Given the description of an element on the screen output the (x, y) to click on. 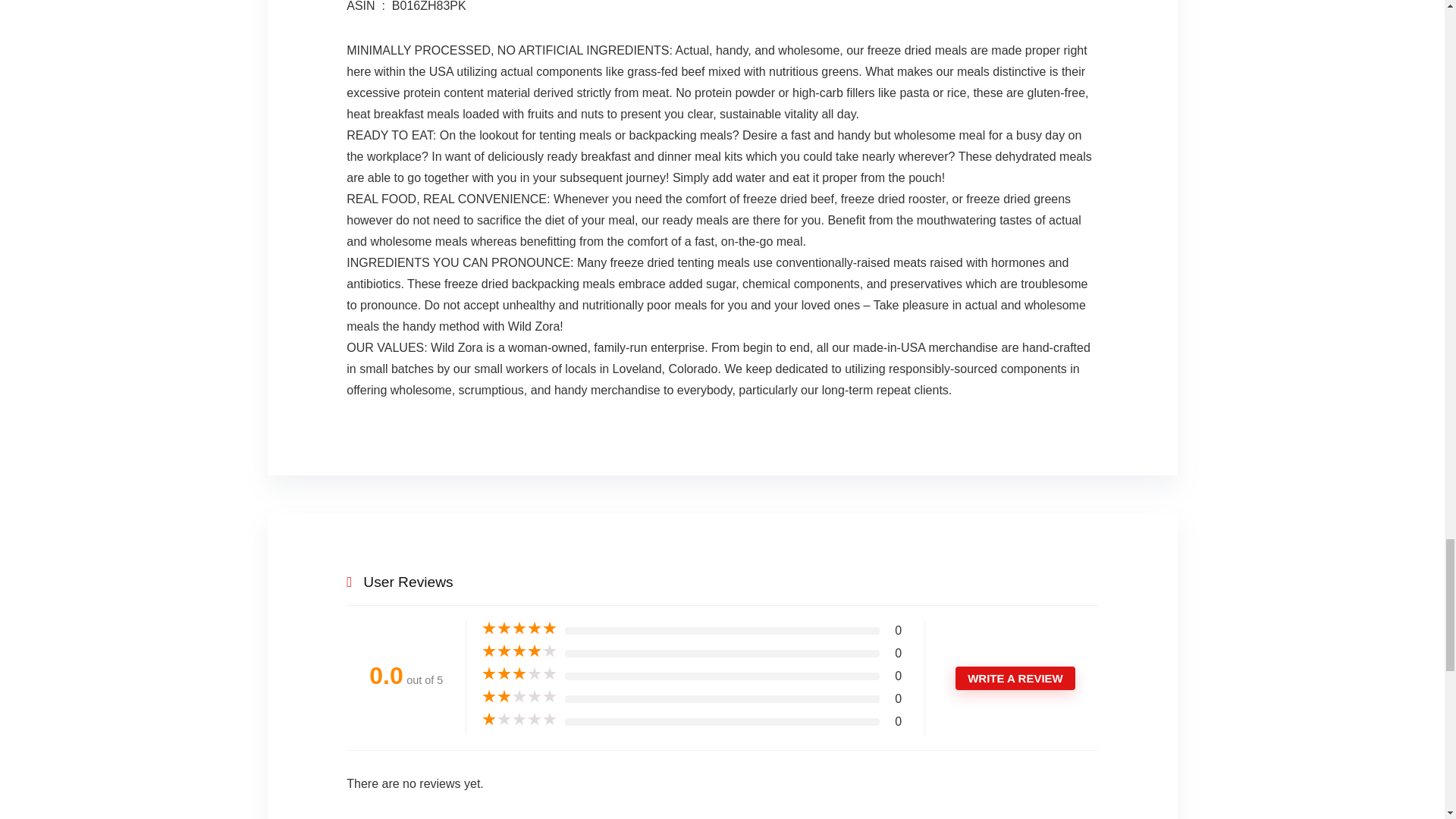
WRITE A REVIEW (1015, 678)
Rated 2 out of 5 (519, 696)
Rated 3 out of 5 (519, 673)
Rated 5 out of 5 (519, 628)
Rated 4 out of 5 (519, 651)
Rated 1 out of 5 (519, 719)
